Given the description of an element on the screen output the (x, y) to click on. 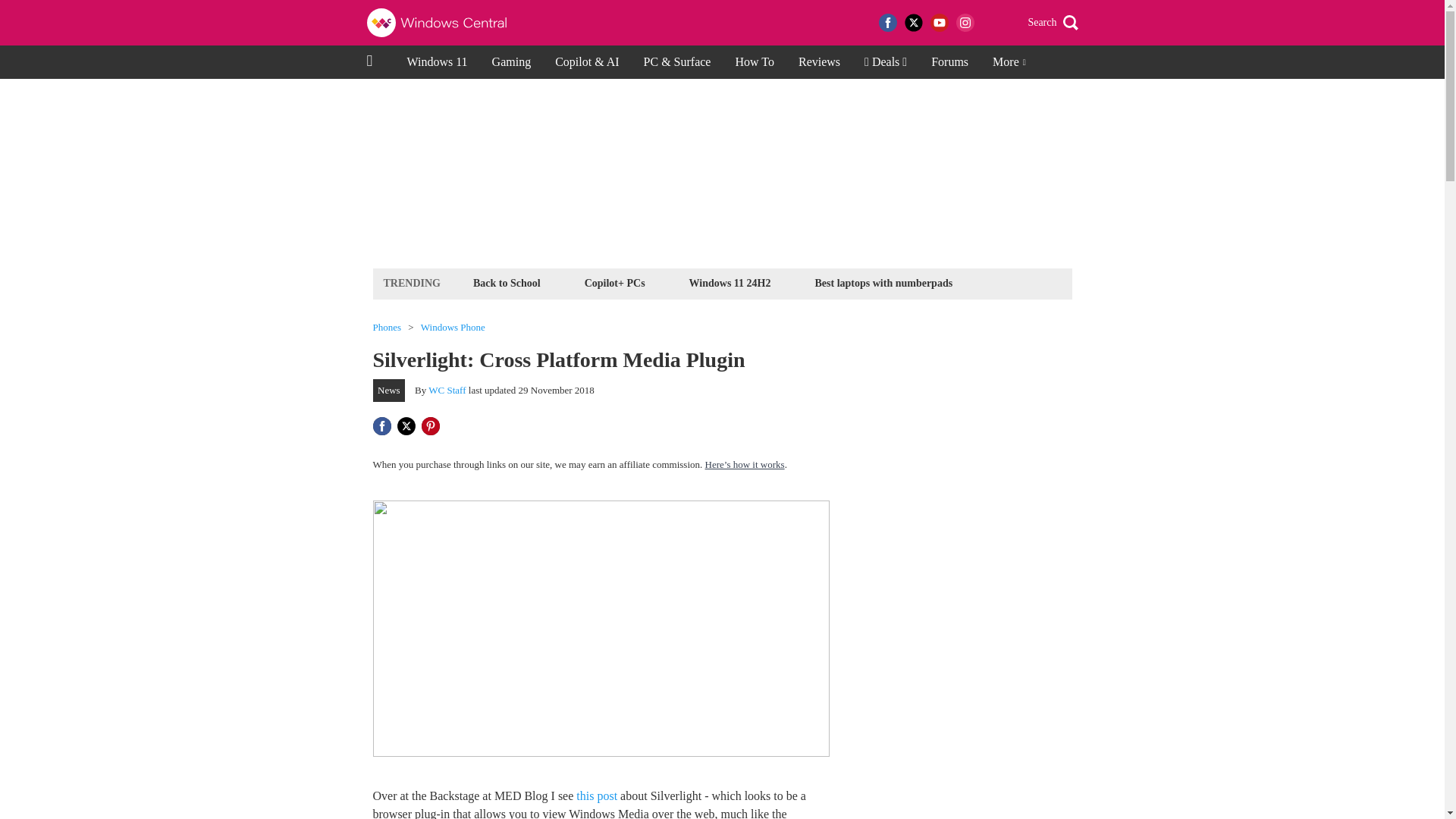
Back to School (506, 282)
News (389, 390)
WC Staff (446, 389)
RSS (990, 22)
How To (754, 61)
Windows 11 (436, 61)
Forums (948, 61)
Windows 11 24H2 (730, 282)
Gaming (511, 61)
Reviews (818, 61)
